Given the description of an element on the screen output the (x, y) to click on. 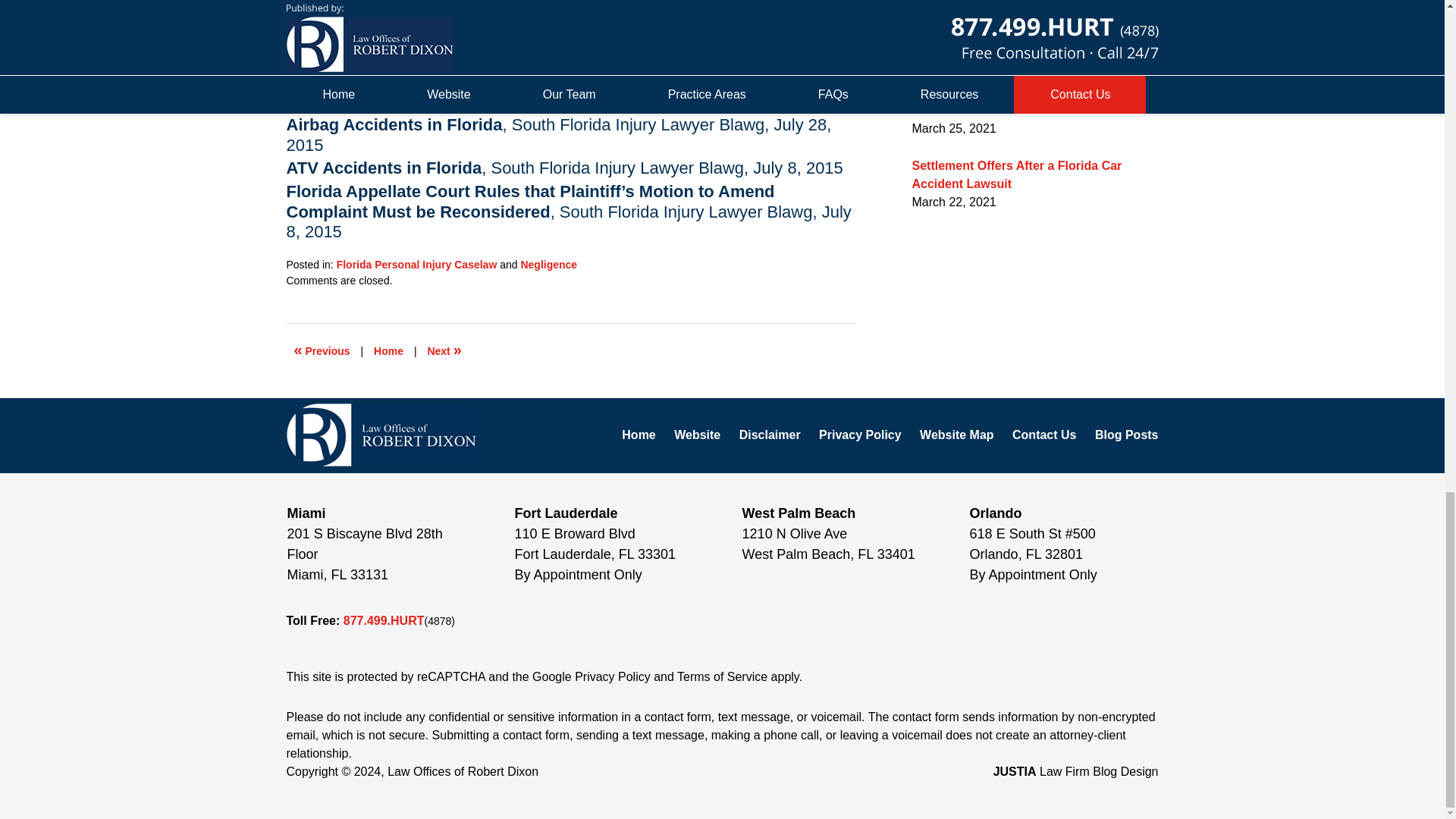
View all posts in Negligence (547, 264)
Airbag Accidents in Florida (394, 124)
View all posts in Florida Personal Injury Caselaw (416, 264)
Elevator and Escalator Accidents in Florida (322, 350)
Falling Merchandise Injuries in Florida (443, 350)
Florida Personal Injury Caselaw (416, 264)
ATV Accidents in Florida (383, 167)
Home (388, 350)
Negligence (547, 264)
